Given the description of an element on the screen output the (x, y) to click on. 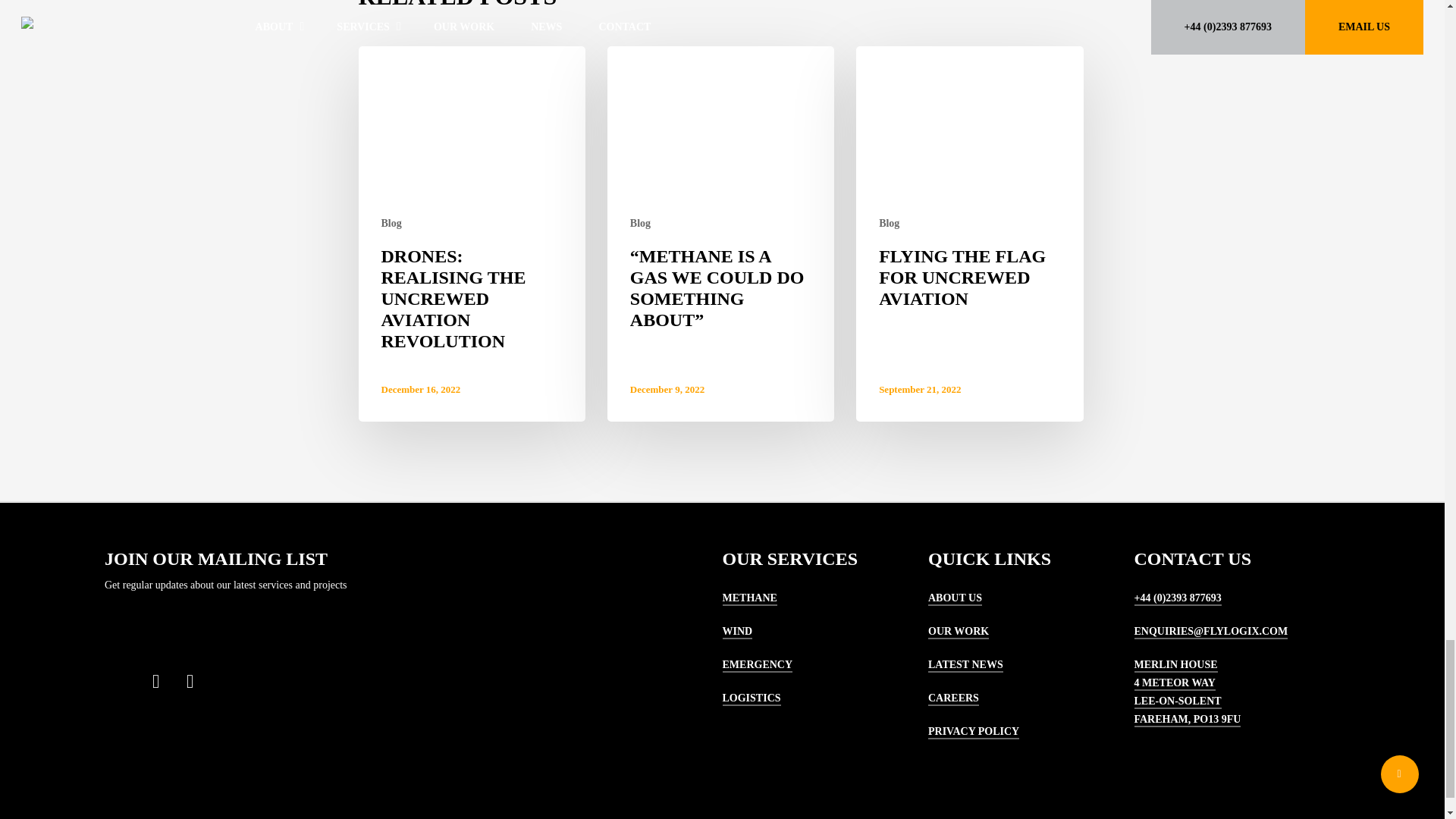
Blog (390, 223)
Blog (640, 223)
Blog (889, 223)
